Given the description of an element on the screen output the (x, y) to click on. 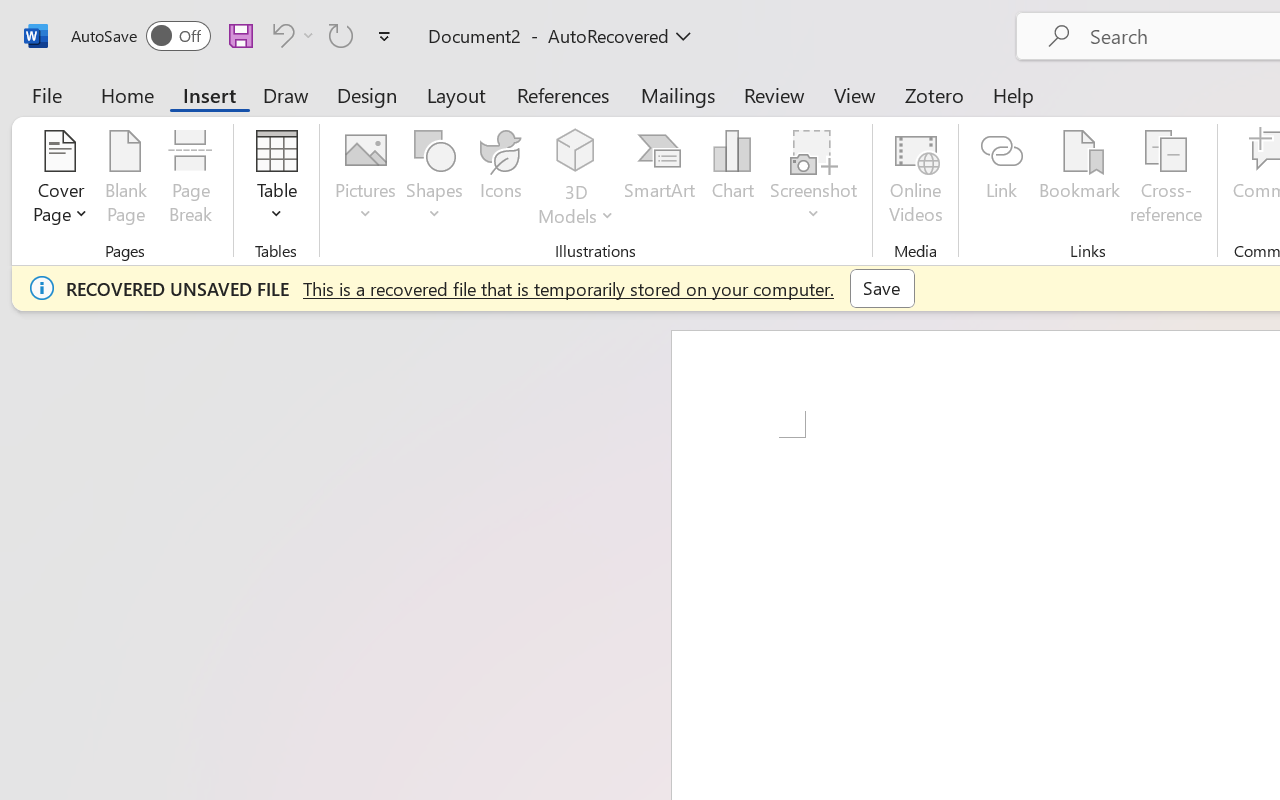
3D Models (576, 151)
Cover Page (60, 179)
Can't Repeat (341, 35)
Shapes (435, 179)
Chart... (732, 179)
Icons (500, 179)
Online Videos... (915, 179)
3D Models (576, 179)
Pictures (365, 179)
